Given the description of an element on the screen output the (x, y) to click on. 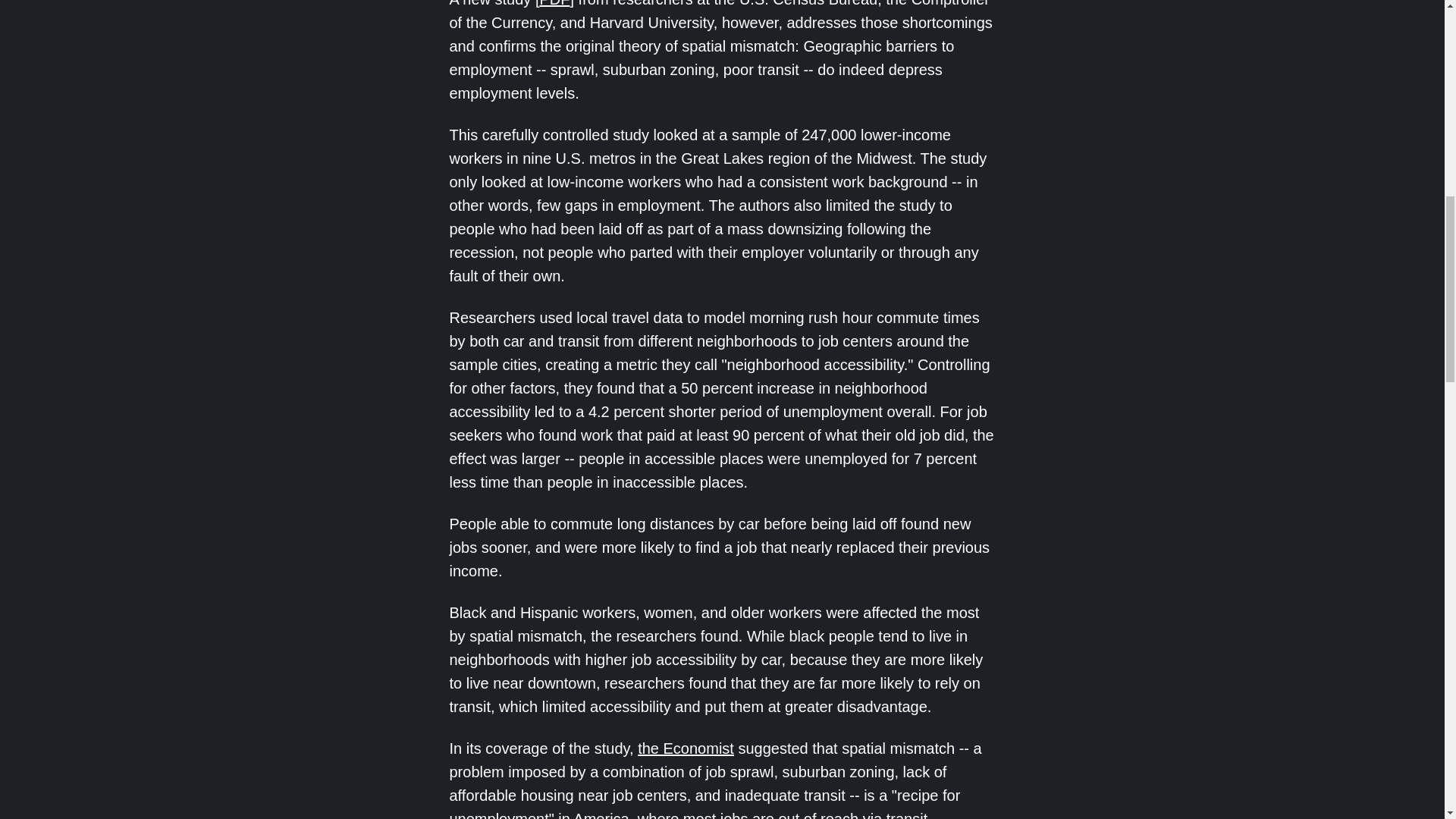
the Economist (685, 748)
PDF (553, 3)
